Given the description of an element on the screen output the (x, y) to click on. 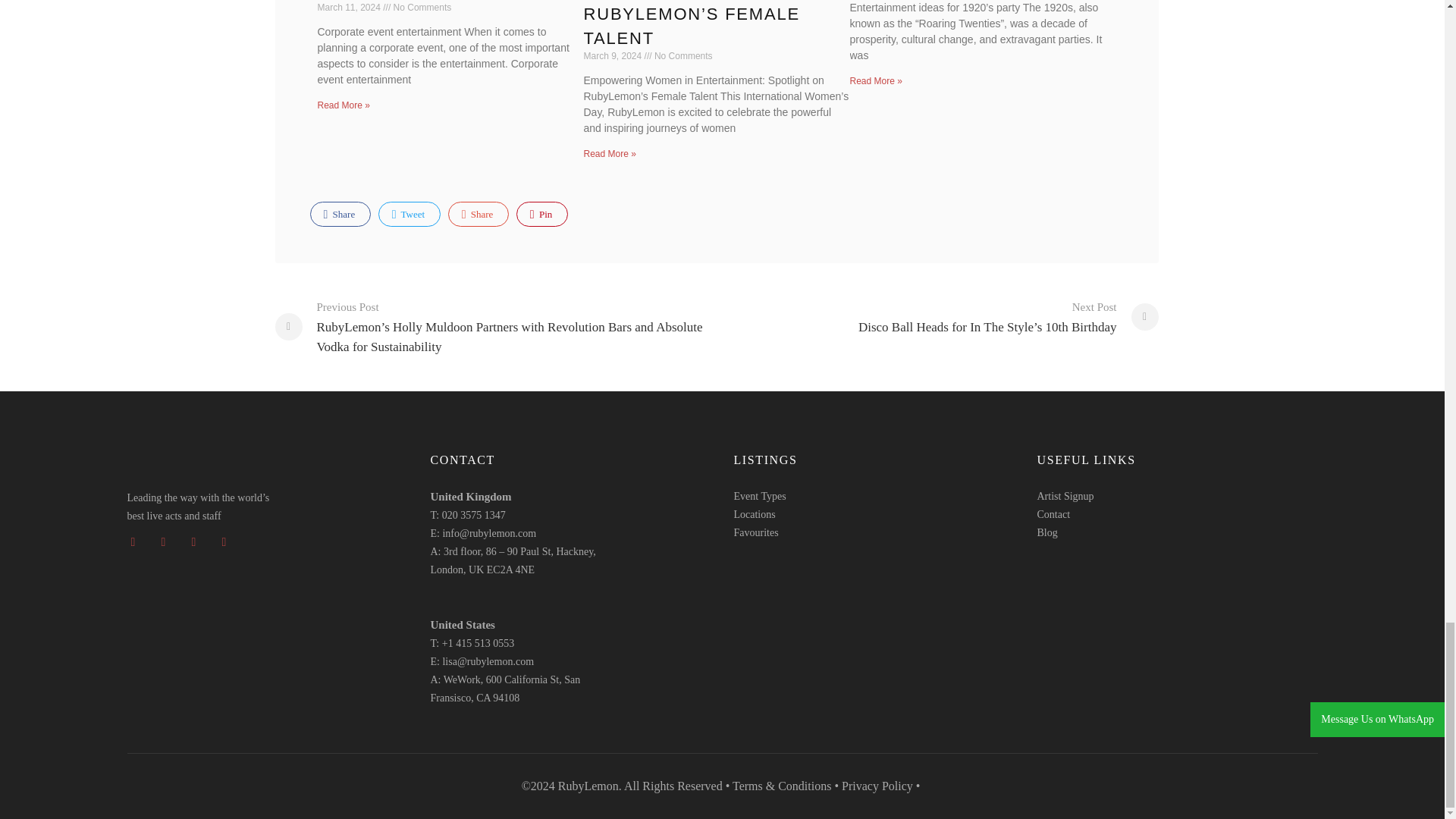
Twitter (409, 213)
